Given the description of an element on the screen output the (x, y) to click on. 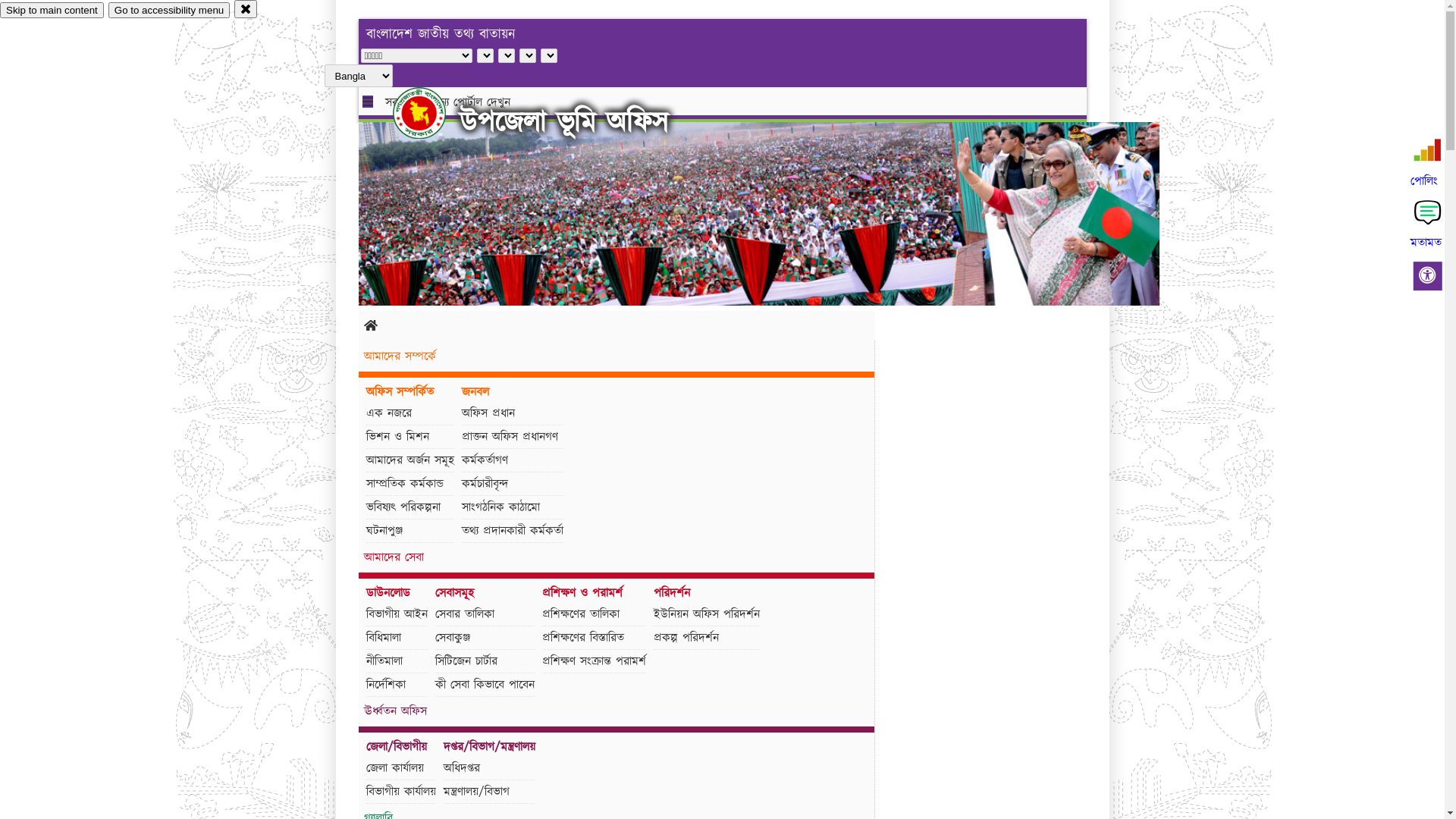
Go to accessibility menu Element type: text (168, 10)

                
             Element type: hover (431, 112)
close Element type: hover (245, 9)
Skip to main content Element type: text (51, 10)
